Given the description of an element on the screen output the (x, y) to click on. 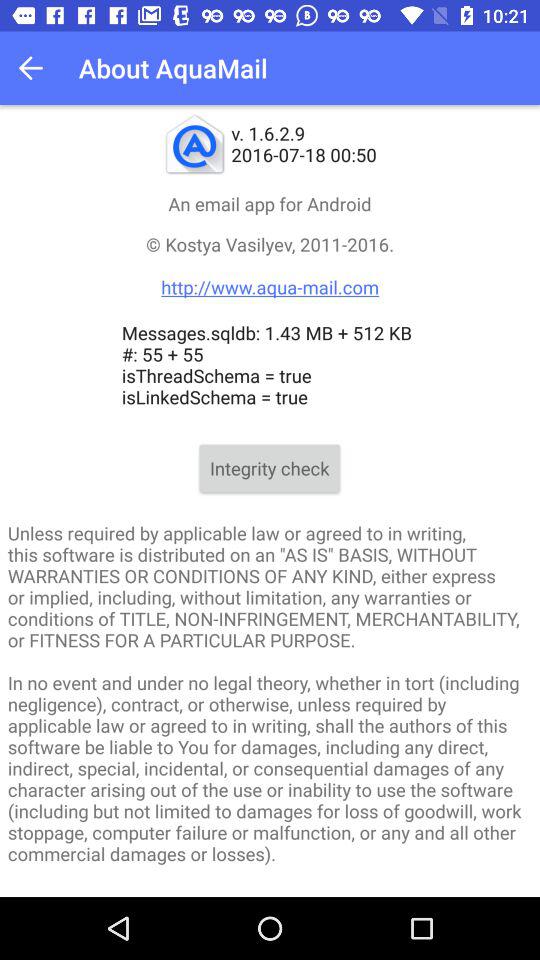
press integrity check (269, 467)
